Given the description of an element on the screen output the (x, y) to click on. 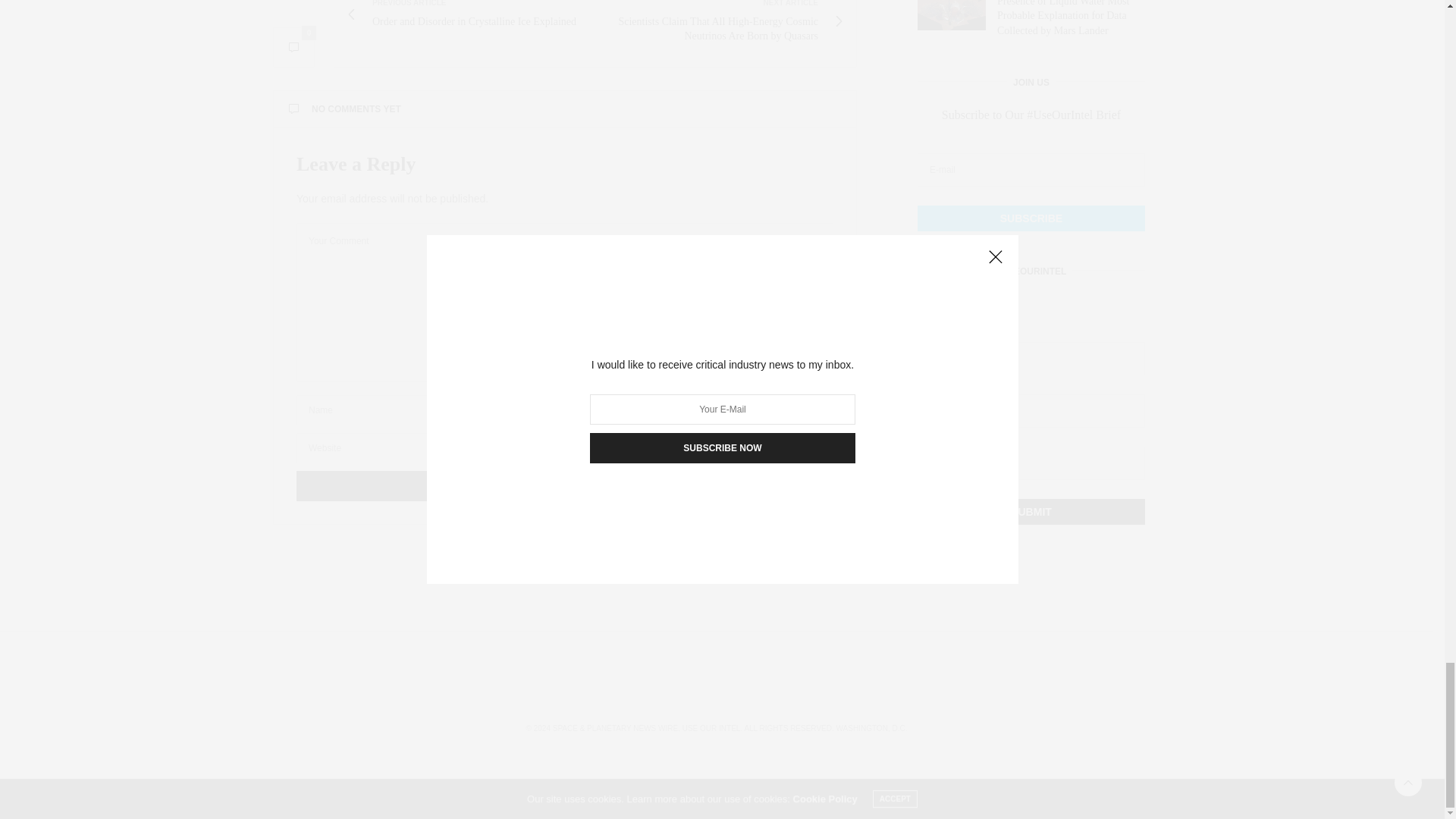
NO COMMENTS YET (564, 108)
Submit Comment (564, 485)
Submit Comment (564, 485)
